Given the description of an element on the screen output the (x, y) to click on. 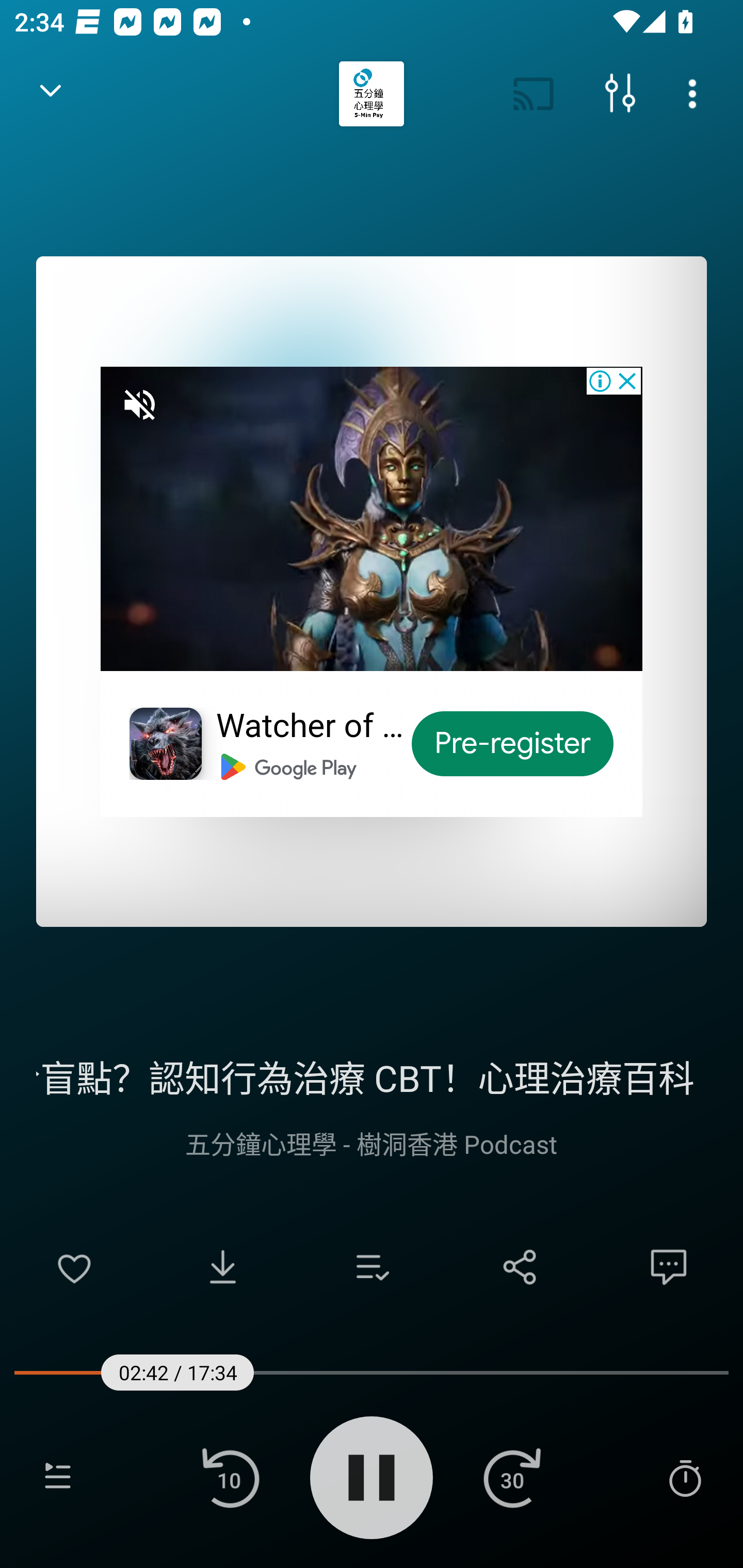
Cast. Disconnected (533, 93)
 Back (50, 94)
Watcher of … Pre-register Pre-register (371, 590)
Pre-register (512, 743)
#PSY｜困擾源於盲點？認知行為治療 CBT！心理治療百科（一）｜#五分鐘心理學 (371, 1075)
五分鐘心理學 - 樹洞香港 Podcast (371, 1142)
Comments (668, 1266)
Add to Favorites (73, 1266)
Add to playlist (371, 1266)
Share (519, 1266)
 Playlist (57, 1477)
Sleep Timer  (684, 1477)
